Given the description of an element on the screen output the (x, y) to click on. 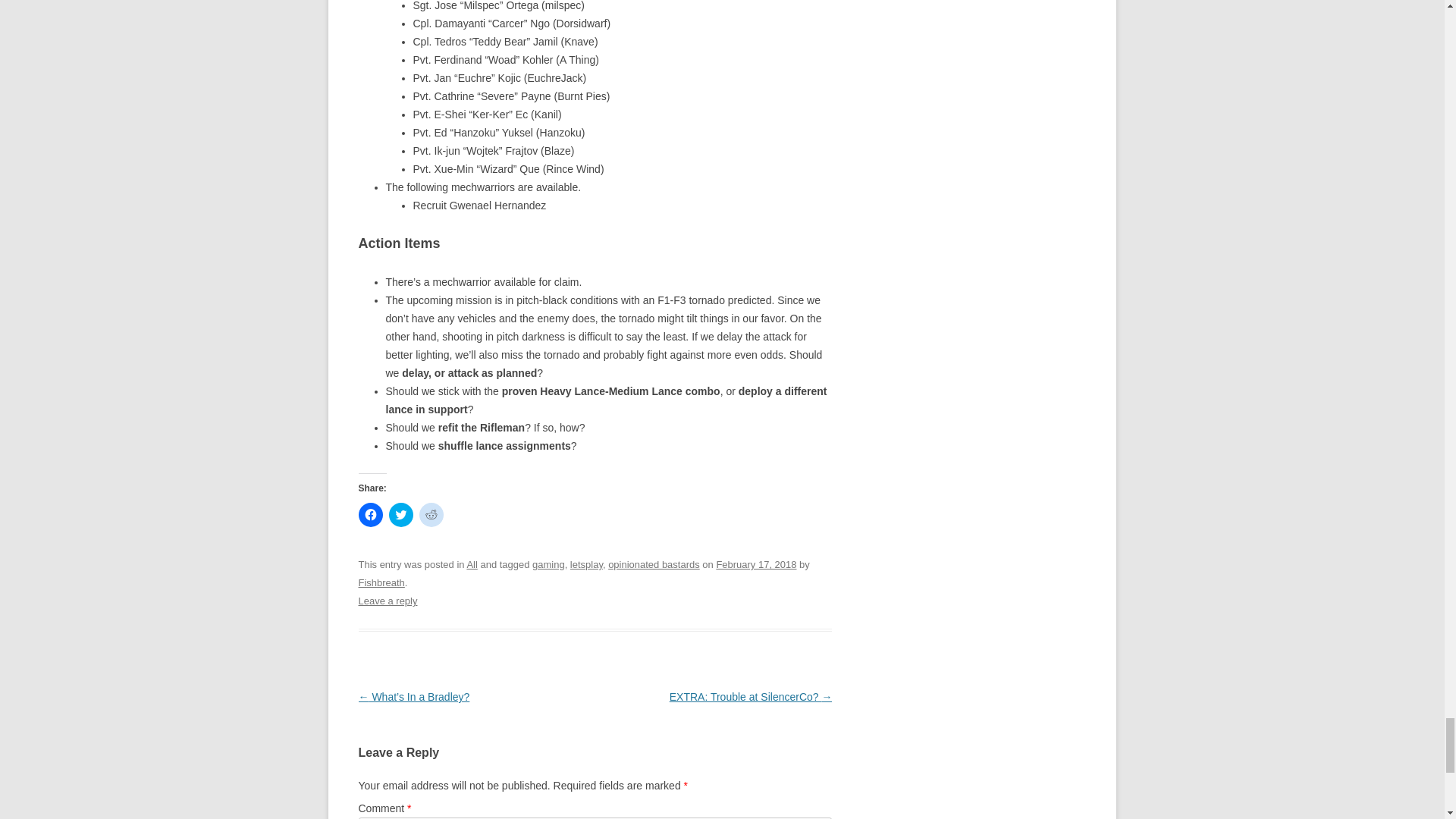
10:00 am (756, 564)
Click to share on Facebook (369, 514)
Leave a reply (387, 600)
February 17, 2018 (756, 564)
Click to share on Reddit (430, 514)
gaming (548, 564)
Click to share on Twitter (400, 514)
View all posts by Fishbreath (381, 582)
Fishbreath (381, 582)
All (471, 564)
